Given the description of an element on the screen output the (x, y) to click on. 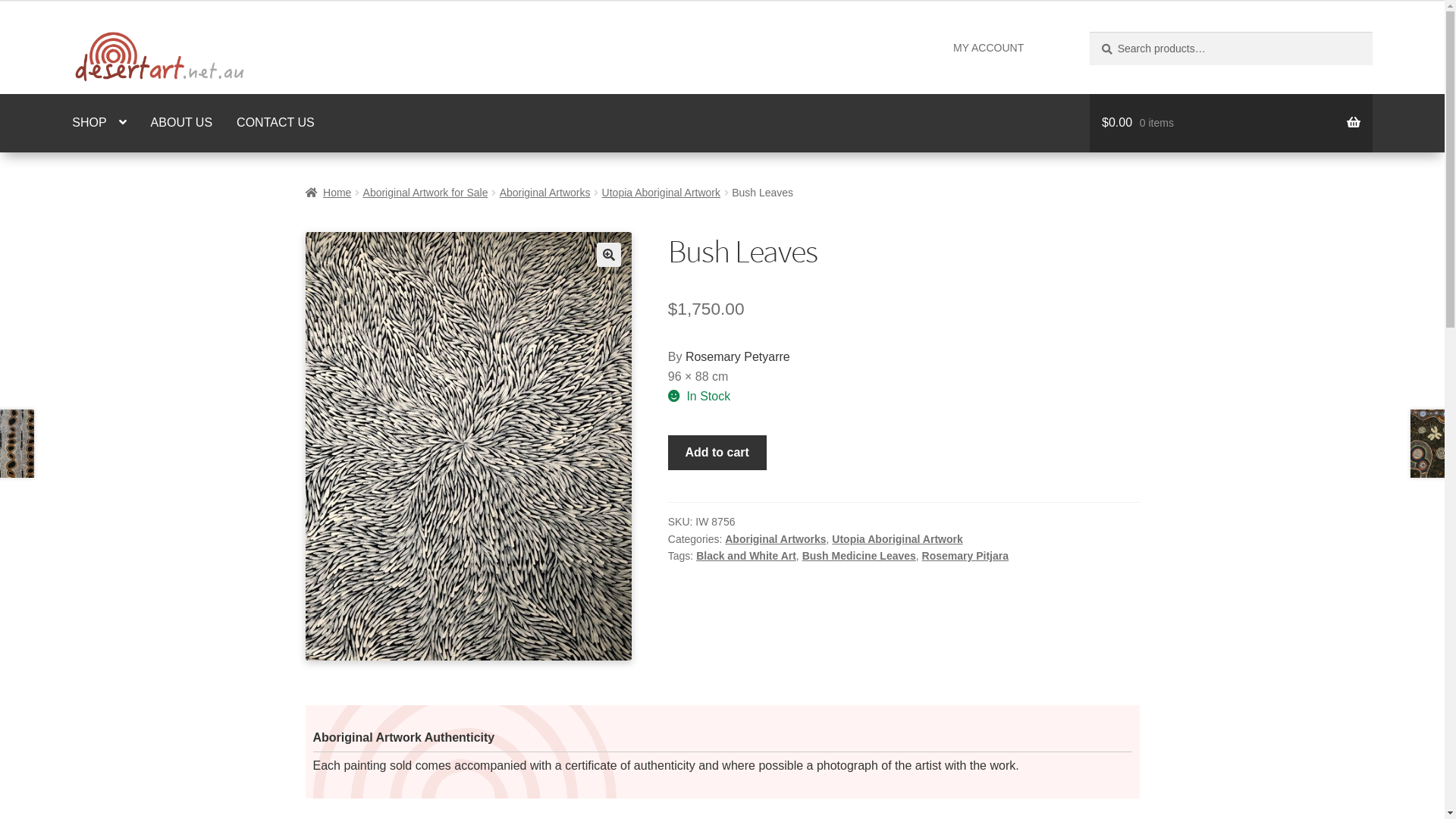
Utopia Aboriginal Artwork Element type: text (896, 539)
ABOUT US Element type: text (181, 123)
MY ACCOUNT Element type: text (988, 47)
Home Element type: text (327, 192)
Utopia Aboriginal Artwork Element type: text (661, 192)
Bush Medicine Leaves Element type: text (859, 555)
Search Element type: text (1088, 31)
CONTACT US Element type: text (275, 123)
Aboriginal Artworks Element type: text (774, 539)
Add to cart Element type: text (717, 452)
Rosemary Pitjara Element type: text (965, 555)
rosemary pitjara Element type: hover (467, 445)
Aboriginal Artworks Element type: text (544, 192)
$0.00 0 items Element type: text (1230, 123)
Rosemary Petyarre Element type: text (737, 356)
Black and White Art Element type: text (746, 555)
Aboriginal Artwork for Sale Element type: text (425, 192)
SHOP Element type: text (98, 123)
